Given the description of an element on the screen output the (x, y) to click on. 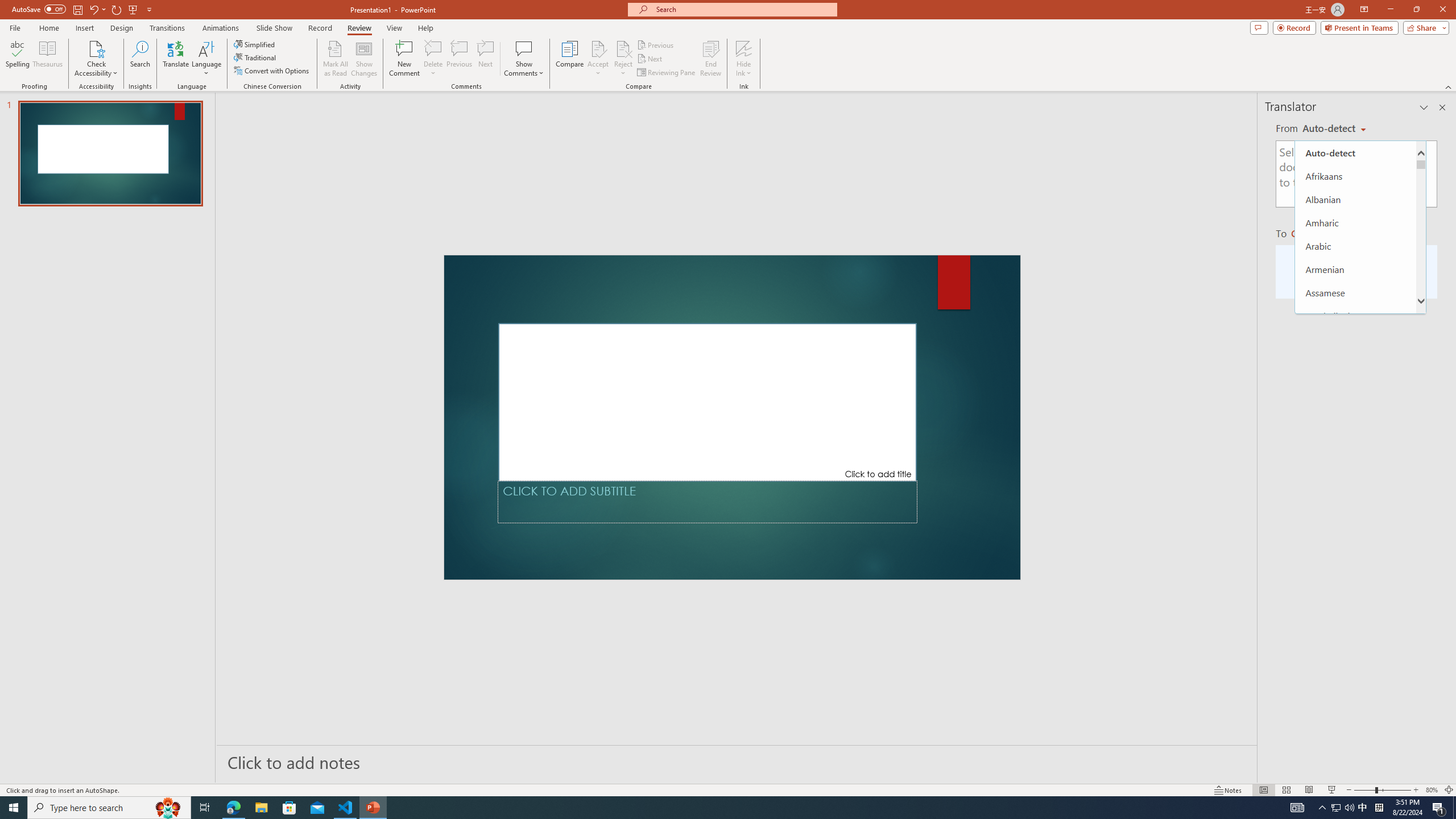
Basque (1355, 385)
Azerbaijani (1355, 315)
Previous (655, 44)
Title TextBox (707, 401)
Convert with Options... (272, 69)
Bangla (1355, 338)
